Given the description of an element on the screen output the (x, y) to click on. 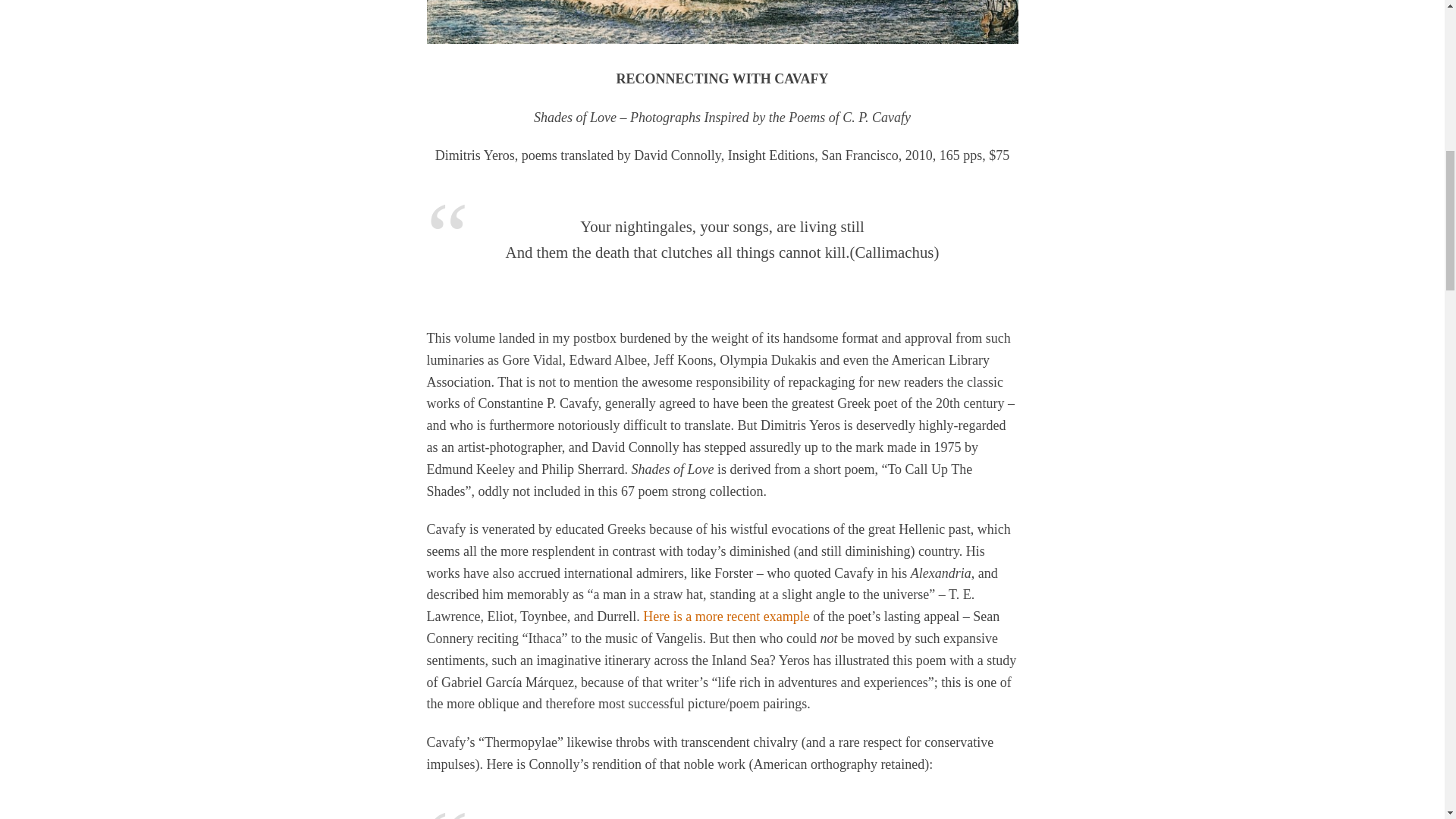
Here is a more recent example (726, 616)
Lighthouse (721, 22)
